Given the description of an element on the screen output the (x, y) to click on. 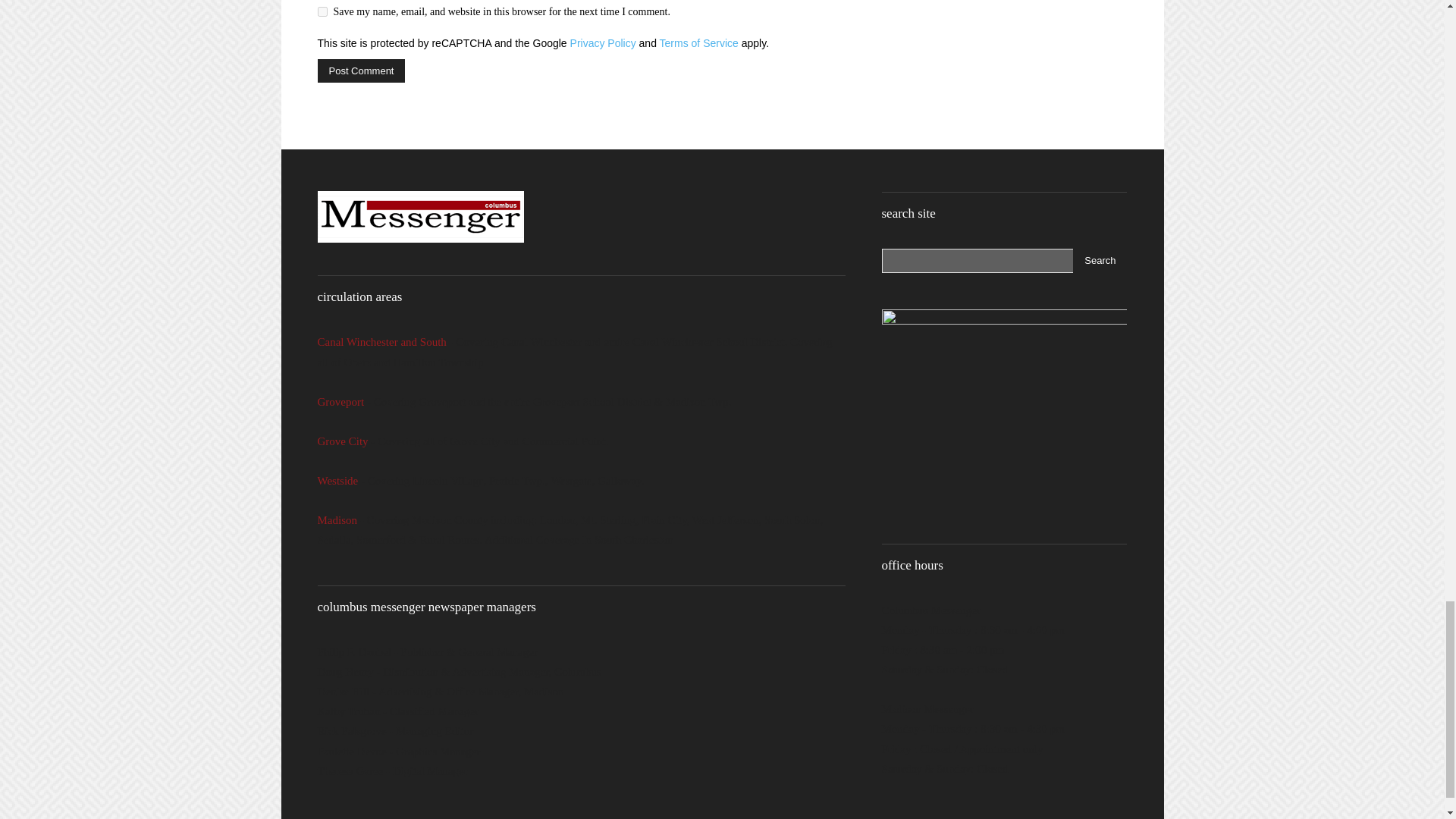
yes (321, 11)
Search (1099, 260)
Post Comment (360, 70)
